Given the description of an element on the screen output the (x, y) to click on. 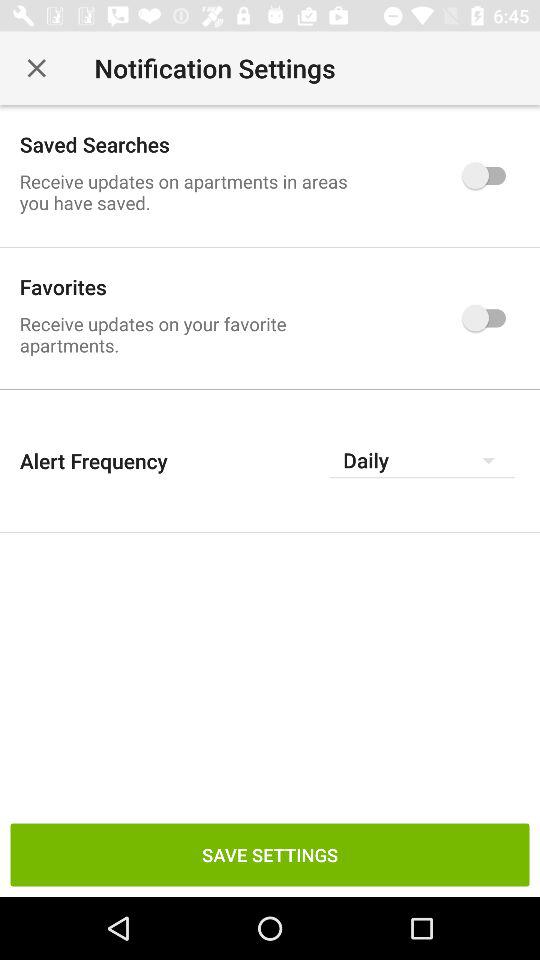
scroll until the save settings icon (269, 854)
